Given the description of an element on the screen output the (x, y) to click on. 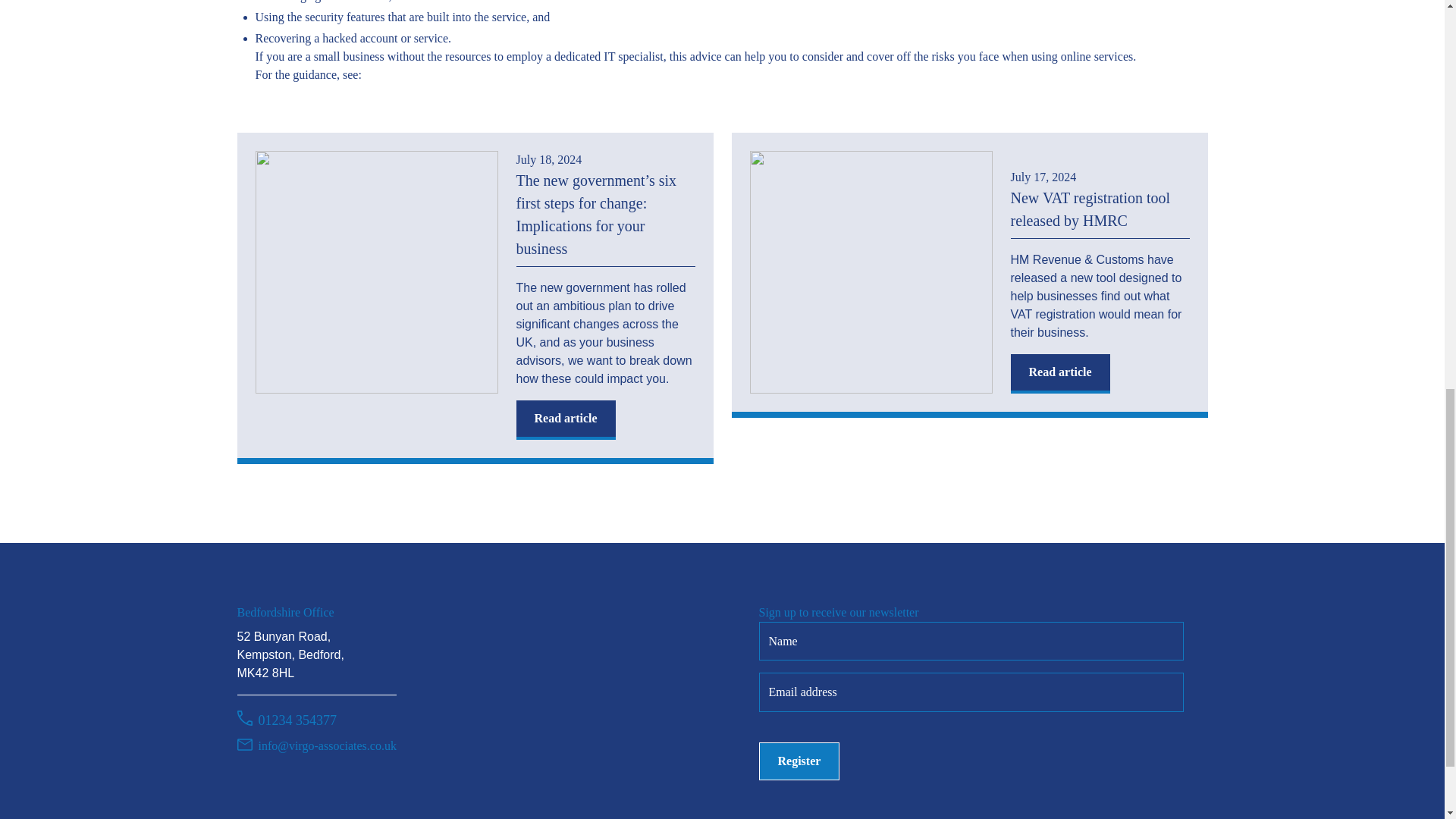
Read article (564, 419)
Read article (1059, 373)
Register (799, 761)
